Given the description of an element on the screen output the (x, y) to click on. 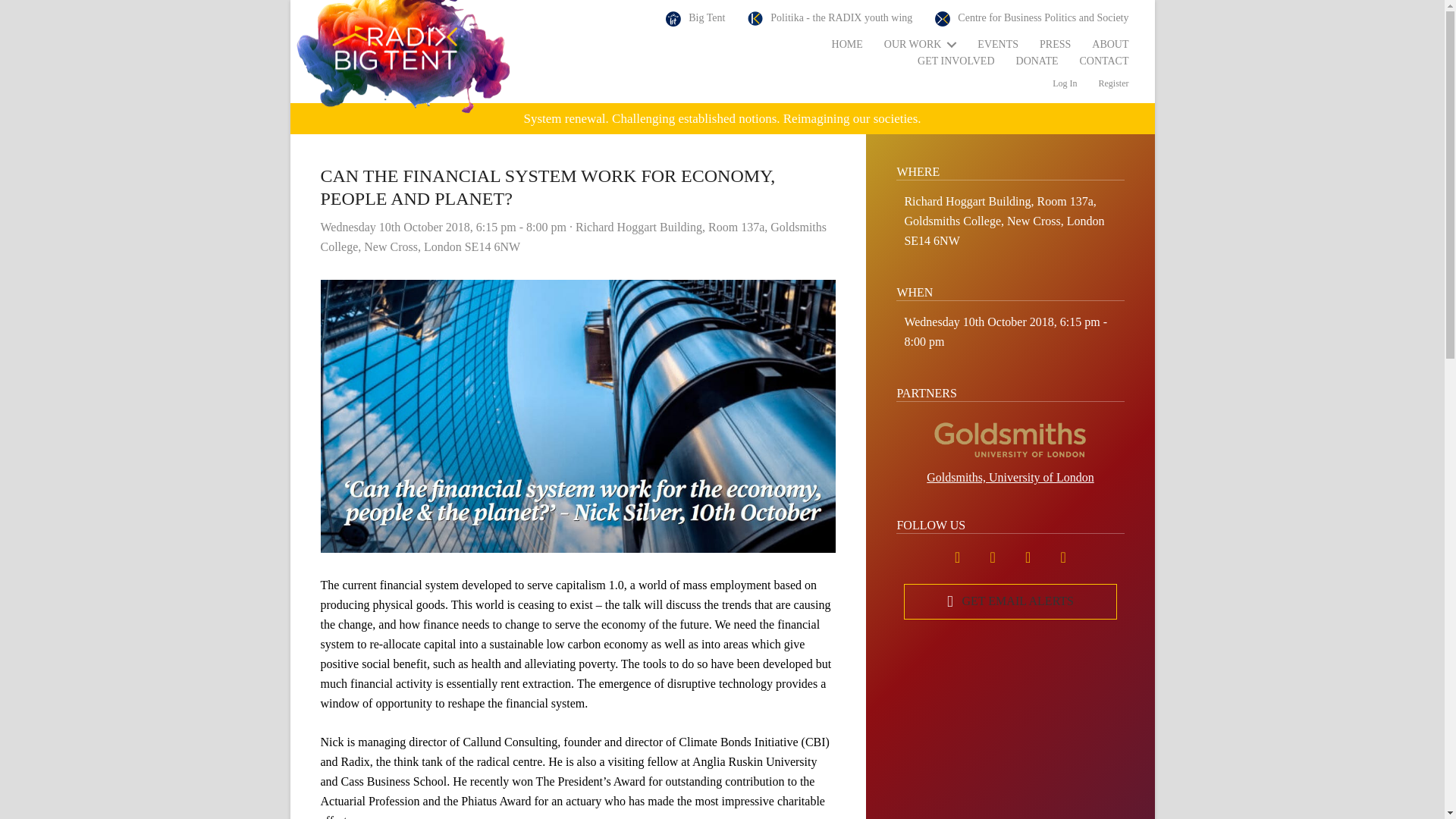
Goldsmiths, University of London (1010, 477)
radix-logo (402, 59)
GET INVOLVED (956, 61)
Big Tent (695, 18)
ABOUT (1109, 45)
GET EMAIL ALERTS (1010, 601)
OUR WORK (920, 45)
PRESS (1055, 45)
DONATE (1037, 61)
Politika - the RADIX youth wing (830, 18)
HOME (847, 45)
Log In (1064, 83)
EVENTS (997, 45)
Register (1113, 83)
